Given the description of an element on the screen output the (x, y) to click on. 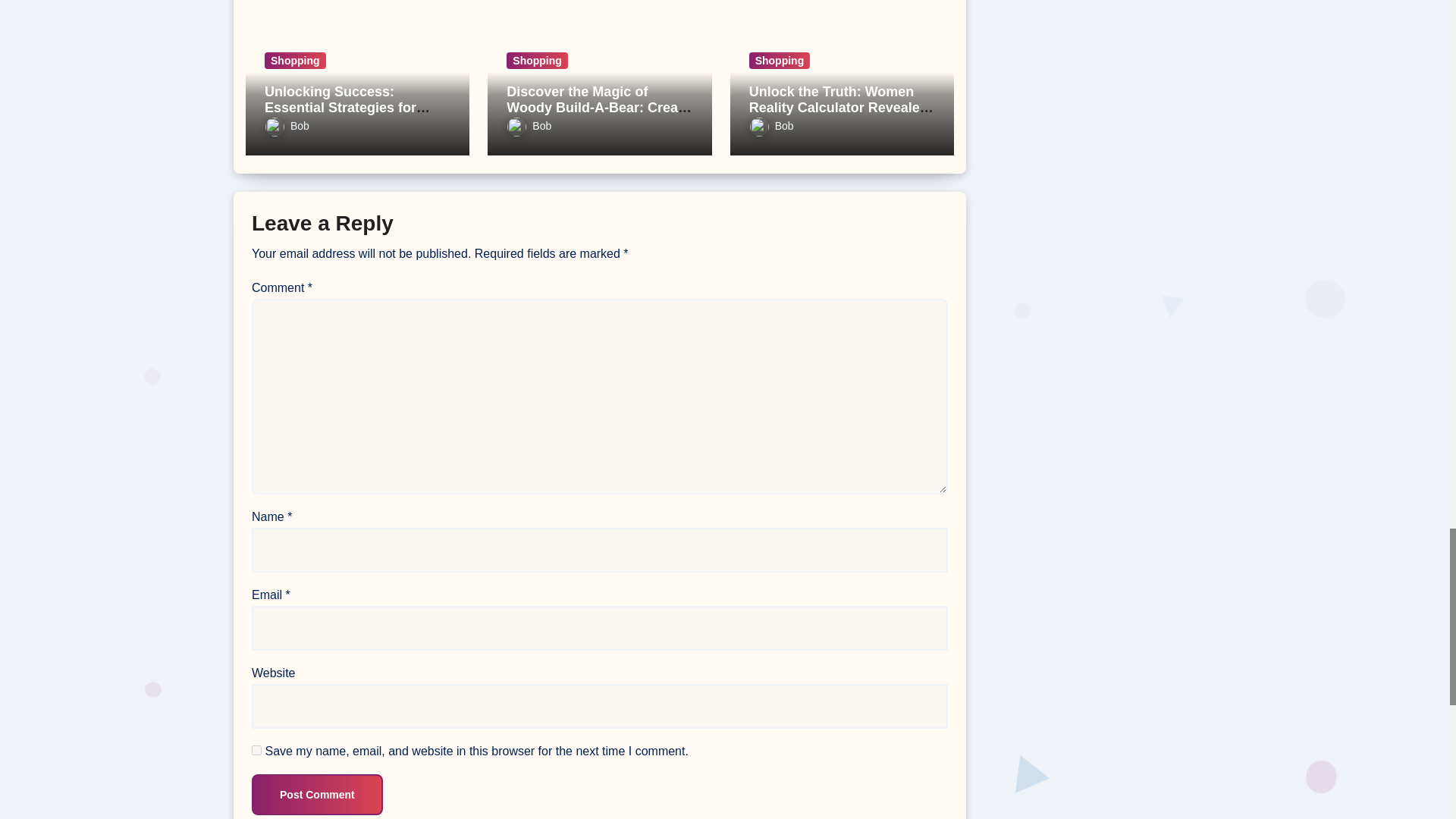
Shopping (536, 60)
Post Comment (316, 793)
Shopping (295, 60)
Bob (286, 125)
yes (256, 750)
